Given the description of an element on the screen output the (x, y) to click on. 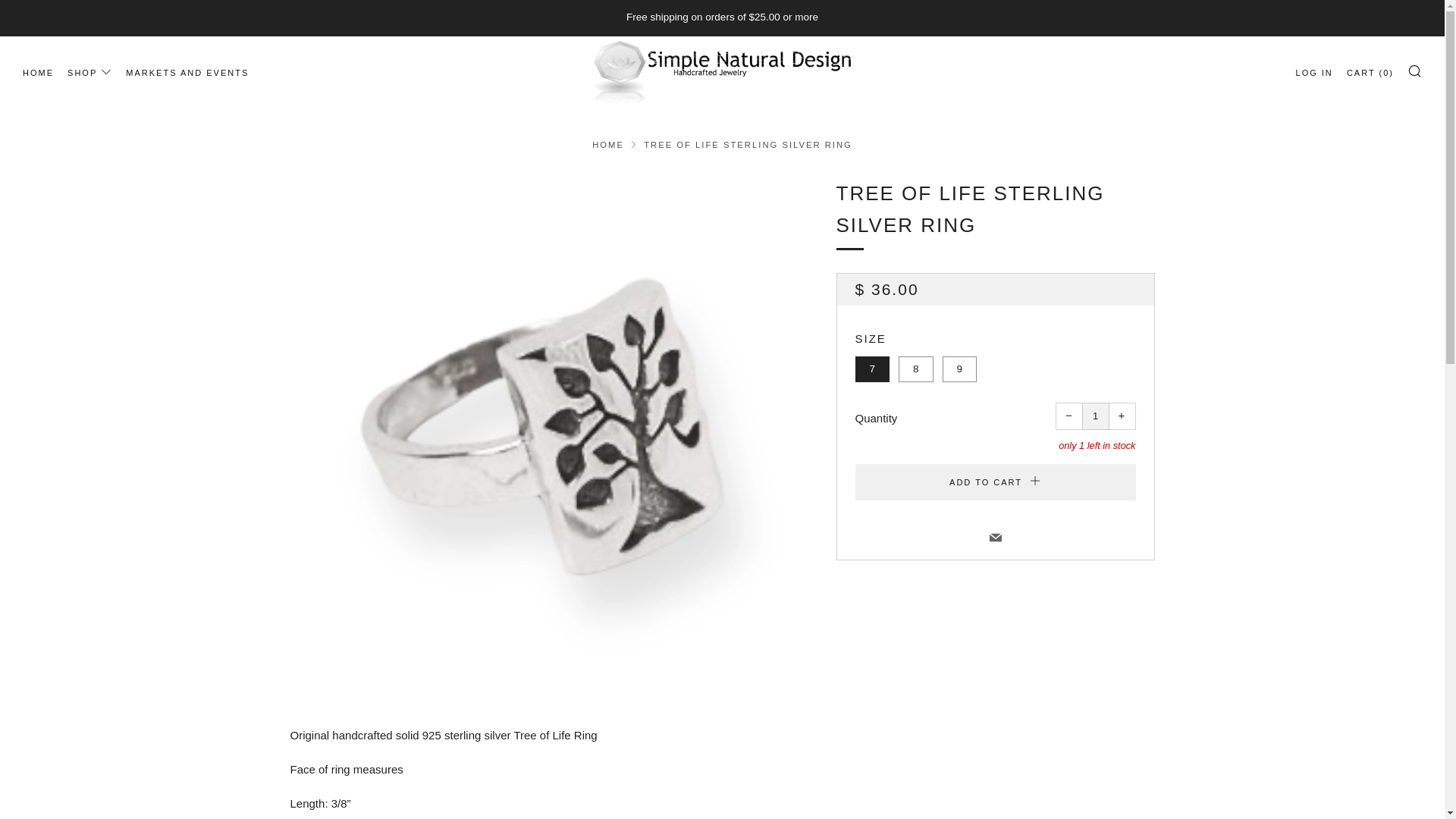
Home (608, 144)
HOME (38, 72)
SHOP (89, 72)
1 (1094, 415)
